Given the description of an element on the screen output the (x, y) to click on. 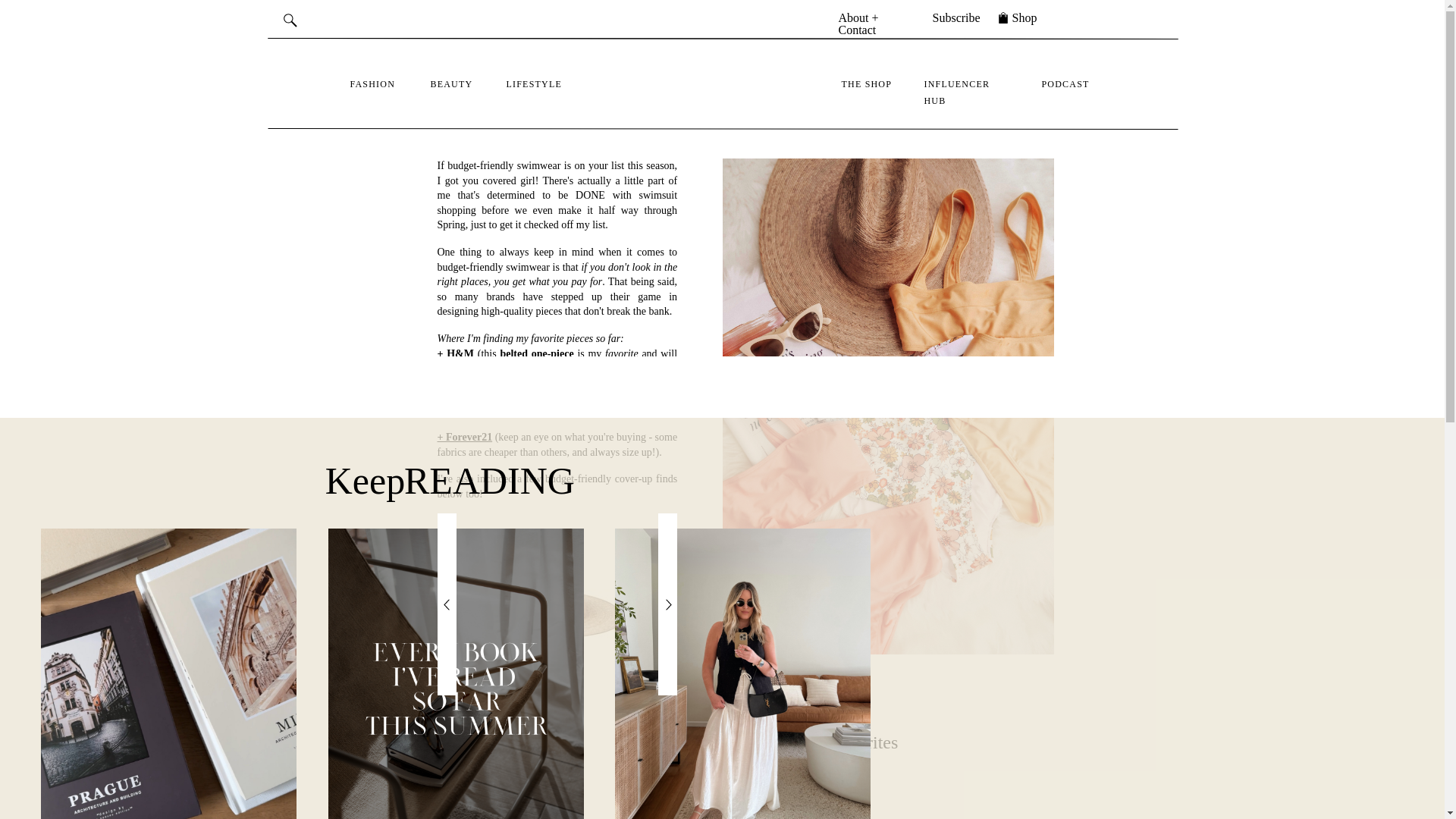
INFLUENCER HUB (968, 83)
THE SHOP (868, 83)
belted one-piece (536, 353)
PODCAST (1069, 83)
Shop (1023, 19)
Subscribe (957, 19)
